Given the description of an element on the screen output the (x, y) to click on. 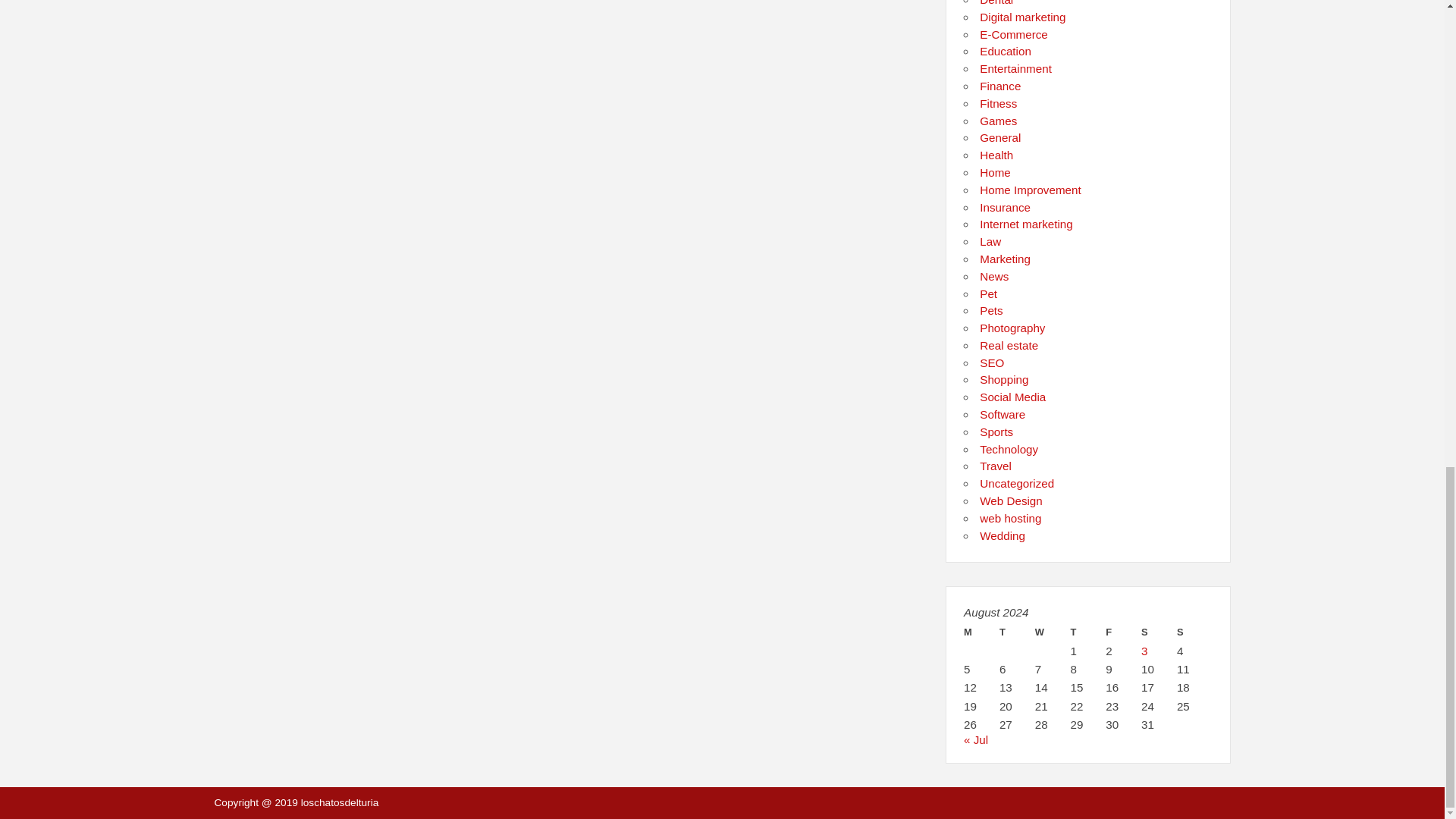
Wednesday (1052, 632)
Education (1004, 51)
Dental (996, 2)
General (999, 137)
Internet marketing (1025, 223)
Monday (980, 632)
Health (996, 154)
Friday (1123, 632)
Home Improvement (1029, 189)
Saturday (1158, 632)
